Given the description of an element on the screen output the (x, y) to click on. 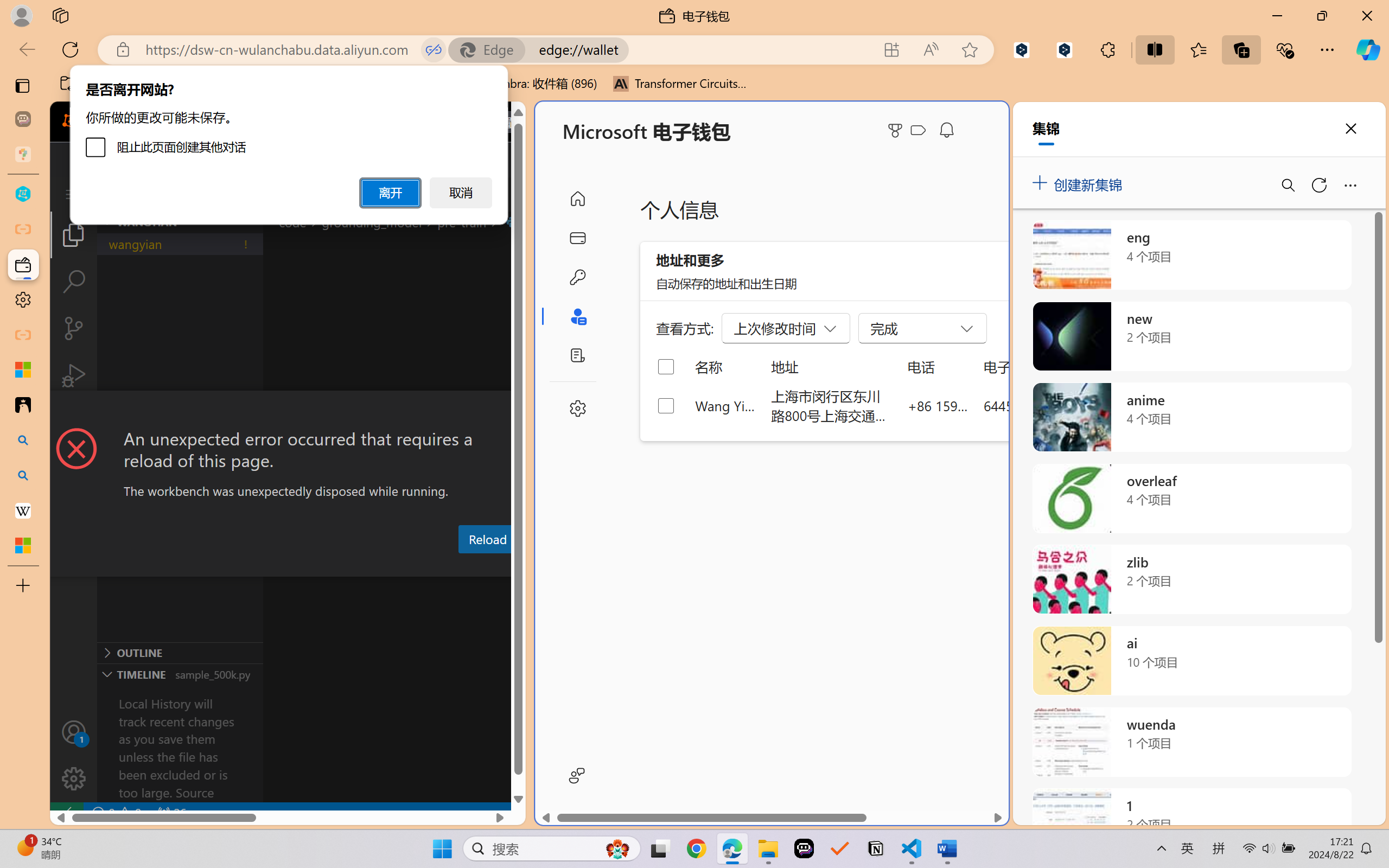
Problems (Ctrl+Shift+M) (308, 565)
Timeline Section (179, 673)
No Problems (115, 812)
Earth - Wikipedia (22, 510)
Wang Yian (725, 405)
